Given the description of an element on the screen output the (x, y) to click on. 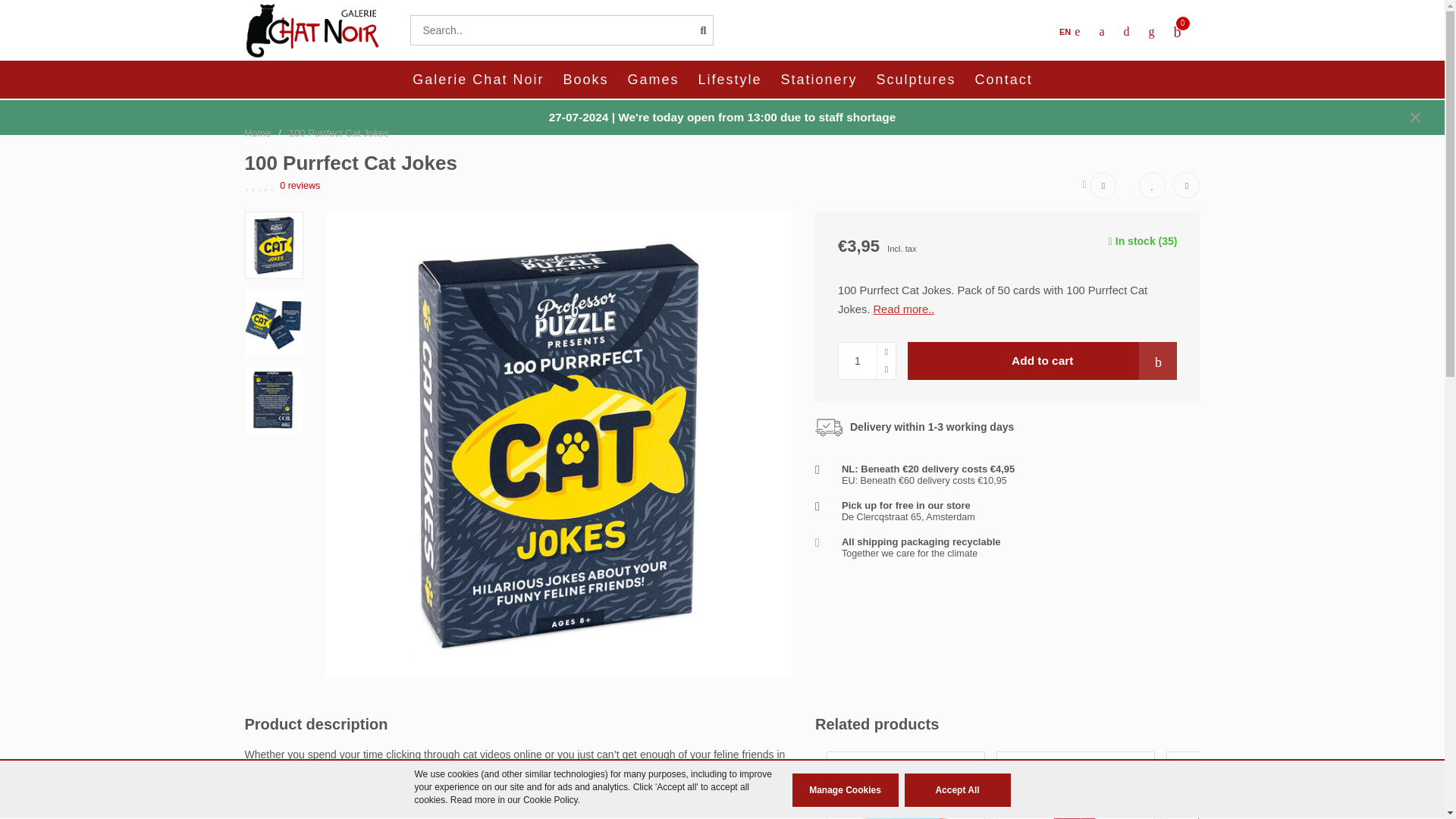
Galerie Chat Noir (477, 79)
Ella van Schaik - Poezenkwartet (1245, 791)
100 Purrfect Cat Jokes (338, 132)
Sculptures (916, 79)
Gift Republic Paw-Mistry - Cat Edition (1075, 791)
EN (1069, 31)
Gift Republic Cat IQ Test (905, 791)
Contact (1003, 79)
Read more.. (903, 309)
Stationery (818, 79)
Games (652, 79)
Books (585, 79)
Home (257, 132)
0 reviews (299, 185)
Home (257, 132)
